Given the description of an element on the screen output the (x, y) to click on. 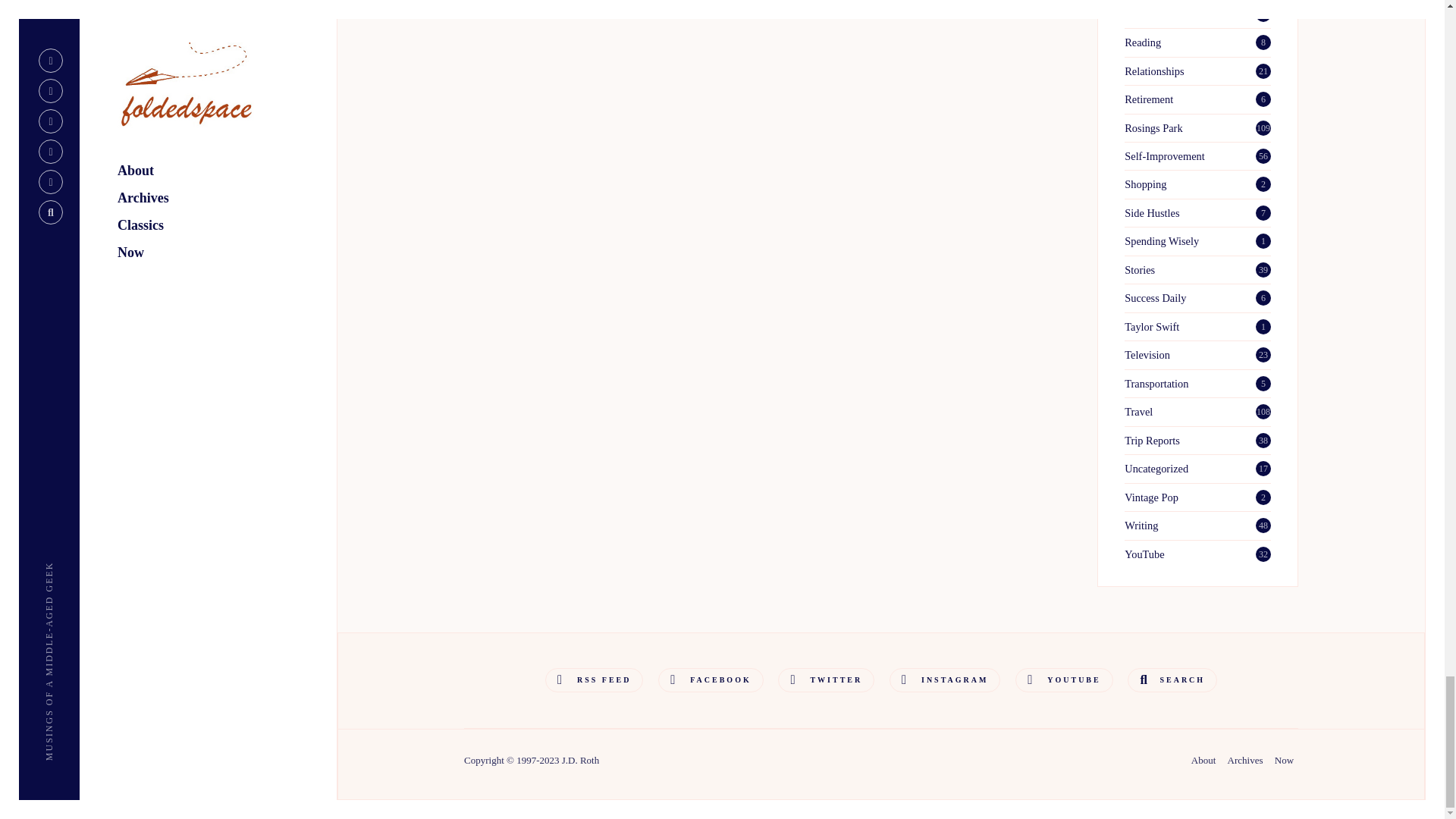
Rss Feed (593, 680)
